Given the description of an element on the screen output the (x, y) to click on. 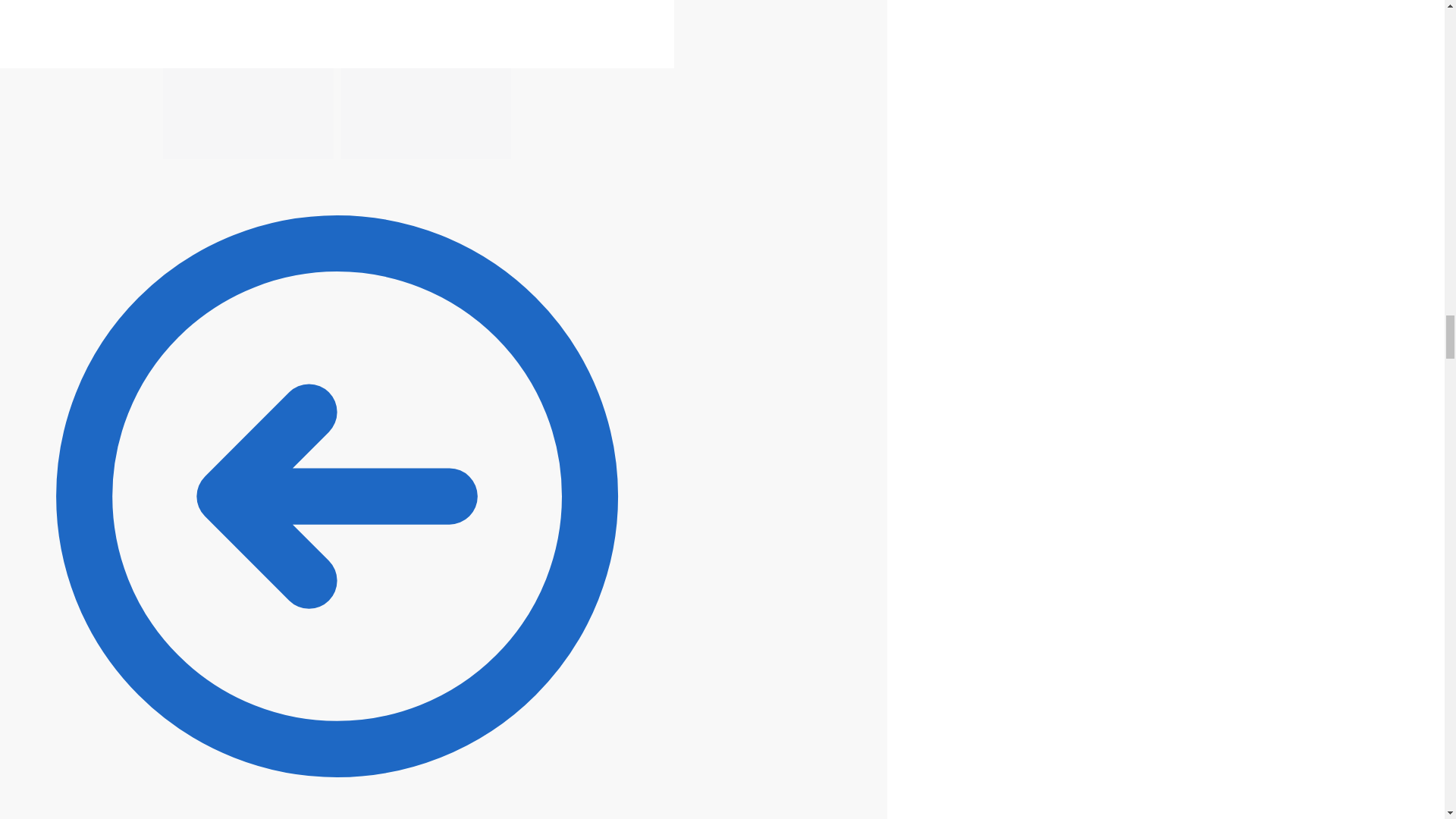
FiveM Police Station MLO (248, 112)
LS County Sheriff Grapeseed MLO (426, 112)
click to zoom-in (337, 33)
